Given the description of an element on the screen output the (x, y) to click on. 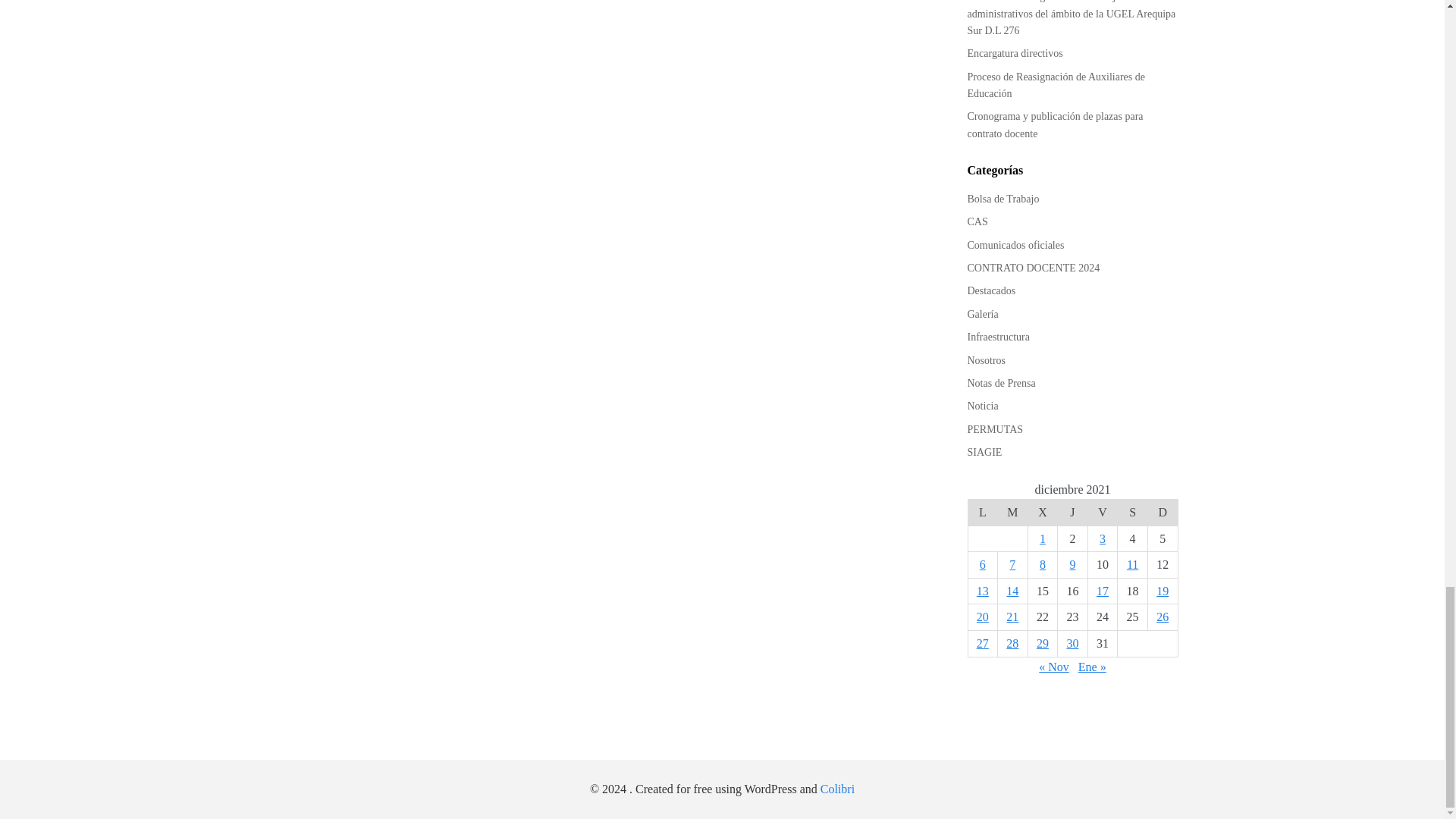
domingo (1162, 512)
viernes (1102, 512)
jueves (1072, 512)
martes (1012, 512)
lunes (982, 512)
